Given the description of an element on the screen output the (x, y) to click on. 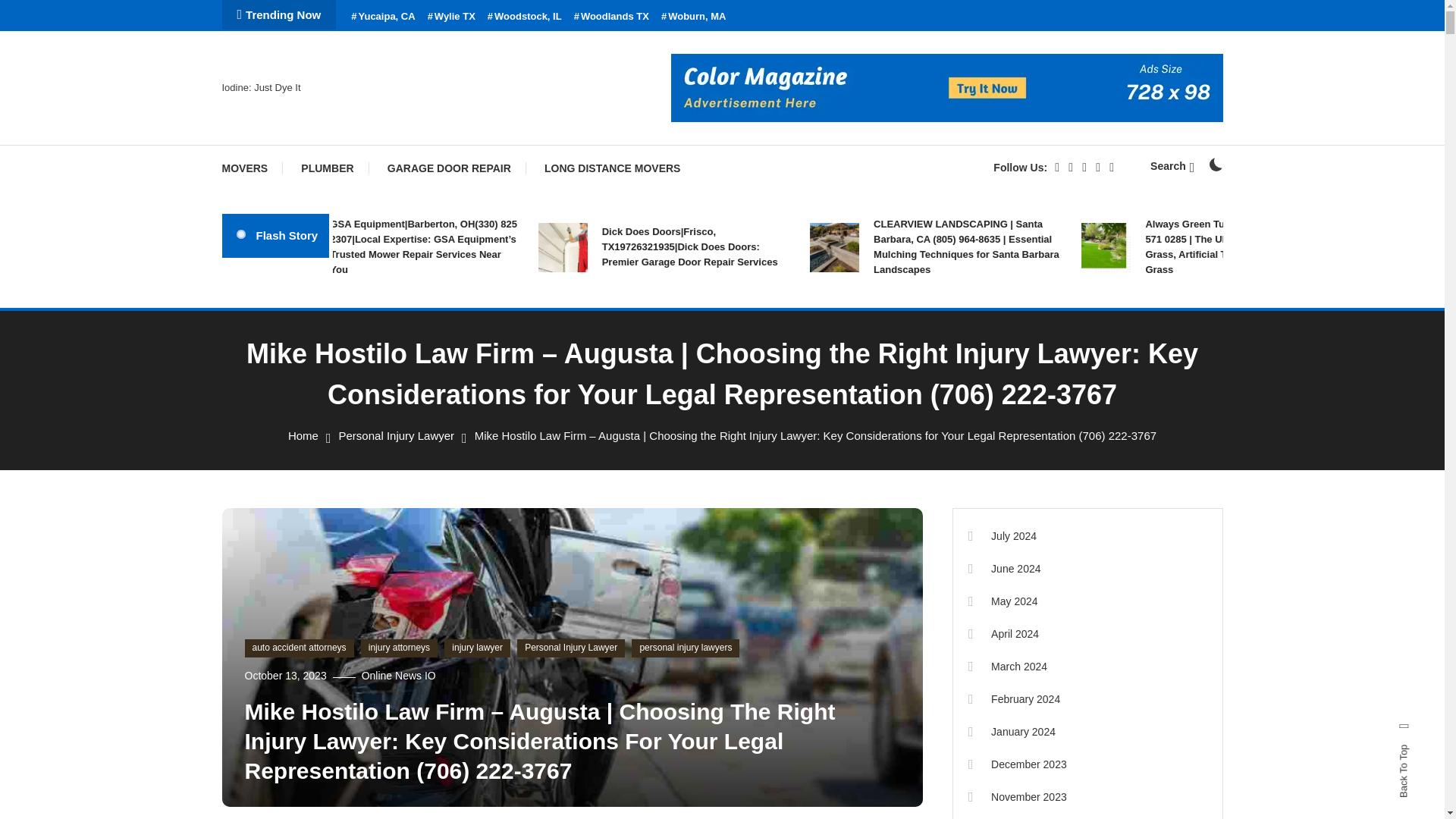
Woodlands TX (611, 16)
Yucaipa, CA (382, 16)
Search (1171, 165)
Wylie TX (452, 16)
on (1215, 164)
PLUMBER (326, 167)
Skip To Content (40, 10)
LONG DISTANCE MOVERS (612, 167)
Woodstock, IL (524, 16)
Woburn, MA (693, 16)
MOVERS (251, 167)
Home (303, 435)
Search (768, 434)
GARAGE DOOR REPAIR (448, 167)
